Given the description of an element on the screen output the (x, y) to click on. 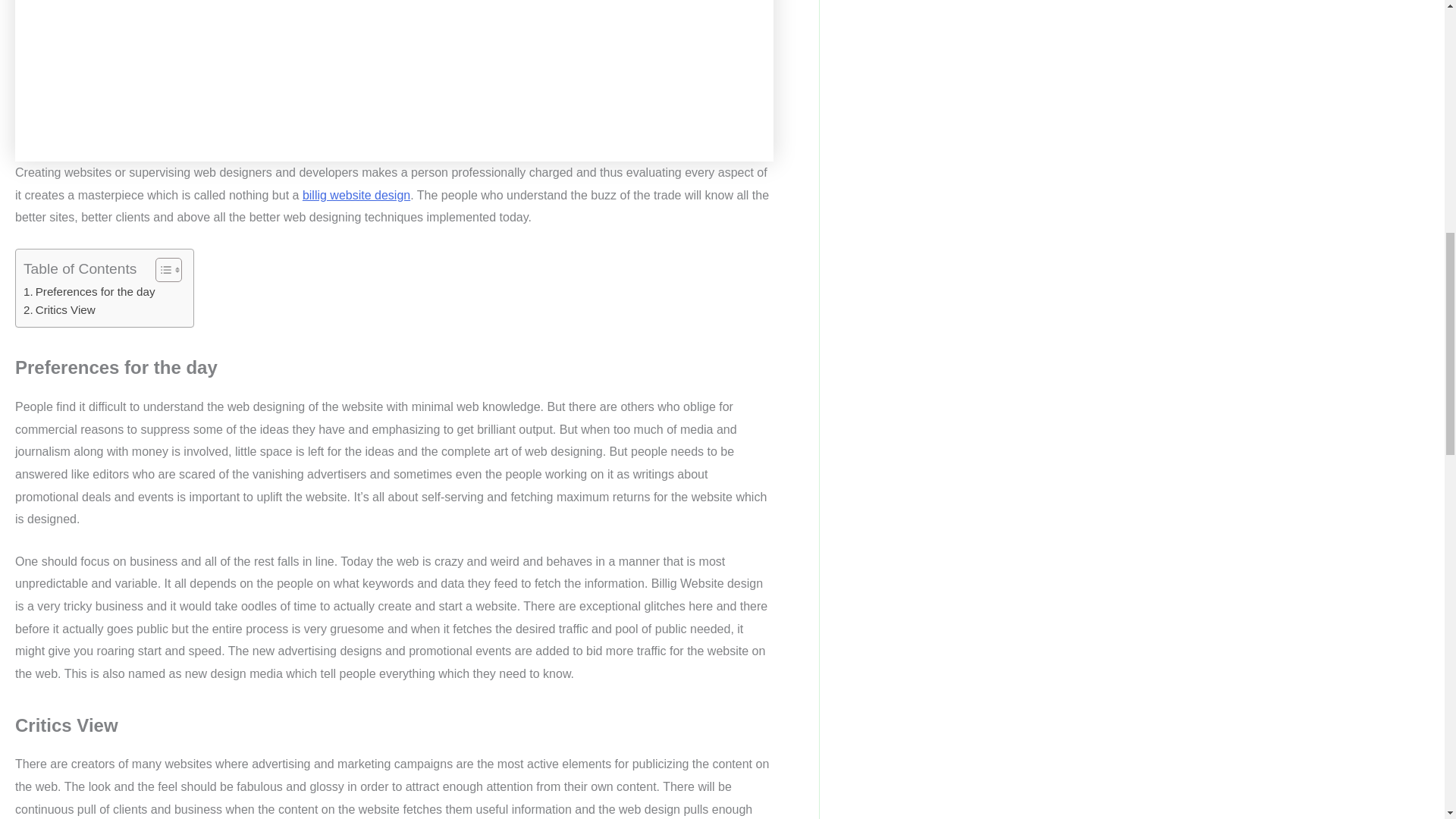
Preferences for the day (89, 291)
Critics View (59, 310)
Critics View (59, 310)
billig website design (356, 195)
Preferences for the day (89, 291)
